Given the description of an element on the screen output the (x, y) to click on. 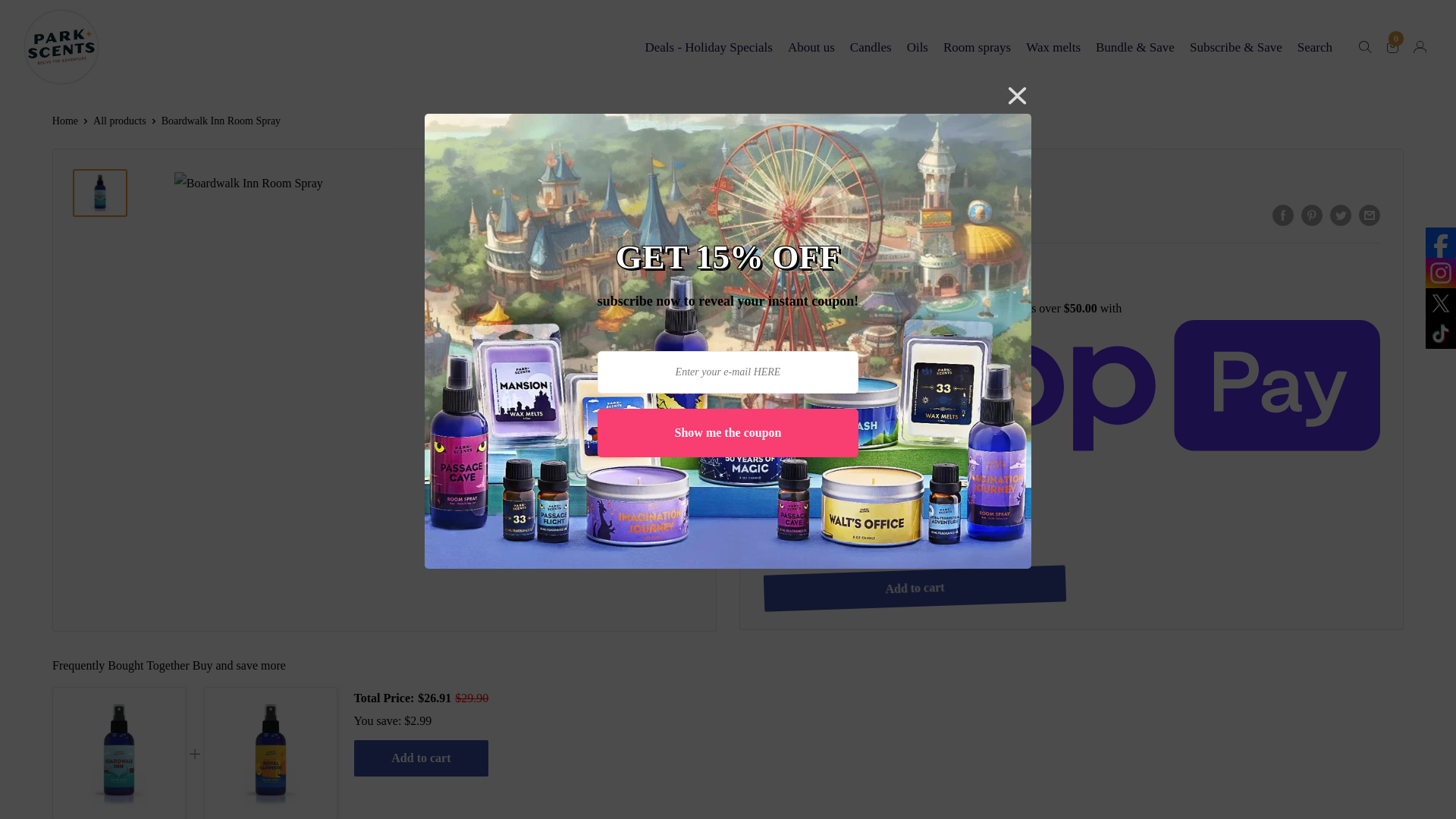
1 (880, 531)
Increase quantity by 1 (920, 531)
Decrease quantity by 1 (840, 531)
Royal Sapphire Room Spray (270, 753)
Candles (870, 47)
Park Scents (60, 46)
About us (810, 47)
Deals - Holiday Specials (709, 47)
Home (65, 120)
Boardwalk Inn Room Spray (1392, 46)
Oils (119, 753)
Wax melts (917, 47)
Search (1053, 47)
All products (1314, 47)
